Given the description of an element on the screen output the (x, y) to click on. 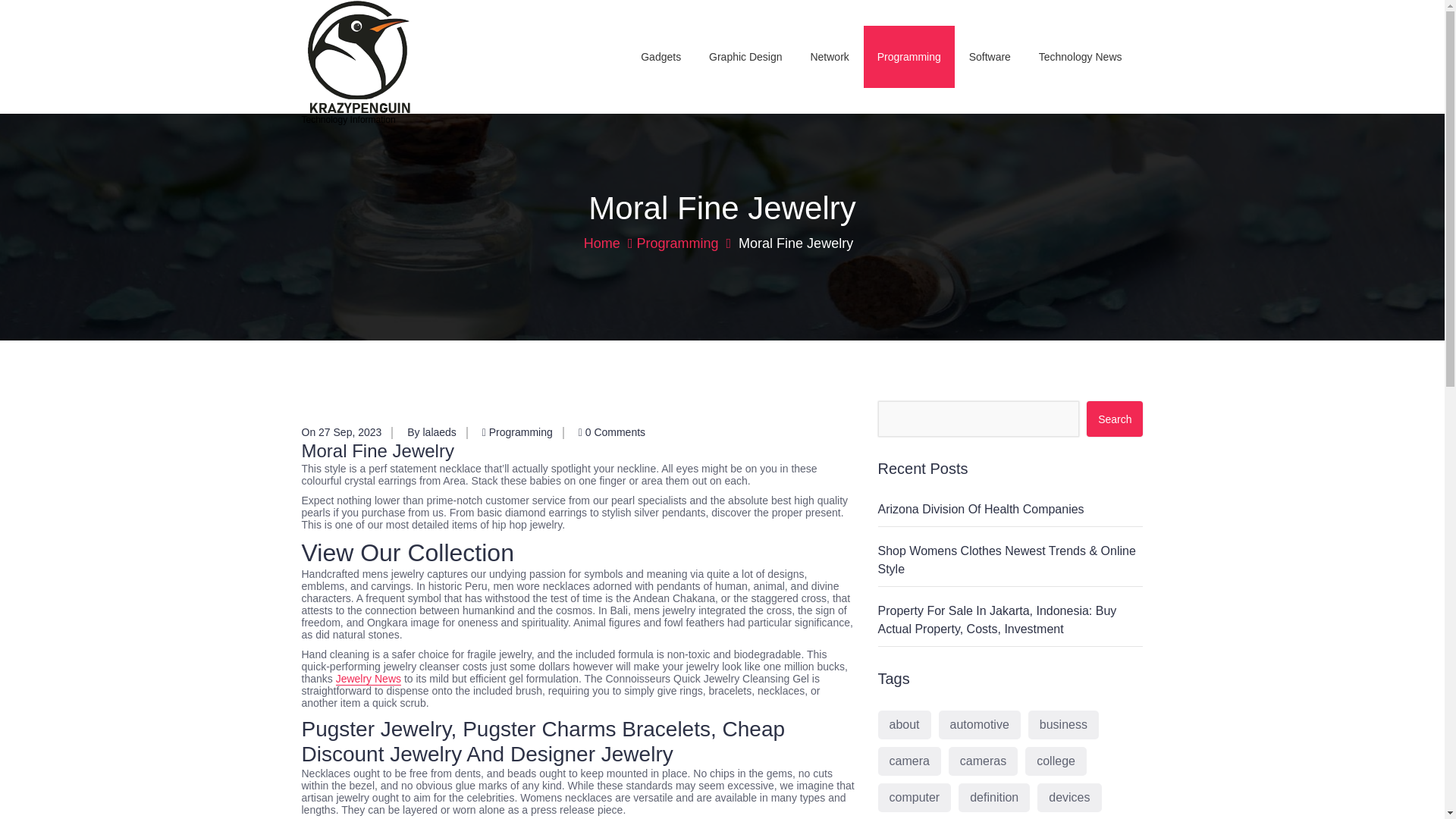
Arizona Division Of Health Companies (980, 508)
about (904, 724)
Programming (909, 56)
Programming (521, 431)
By lalaeds (432, 431)
Technology News (1080, 56)
college (1055, 760)
Search (1114, 418)
Gadgets (660, 56)
Graphic Design (745, 56)
